Given the description of an element on the screen output the (x, y) to click on. 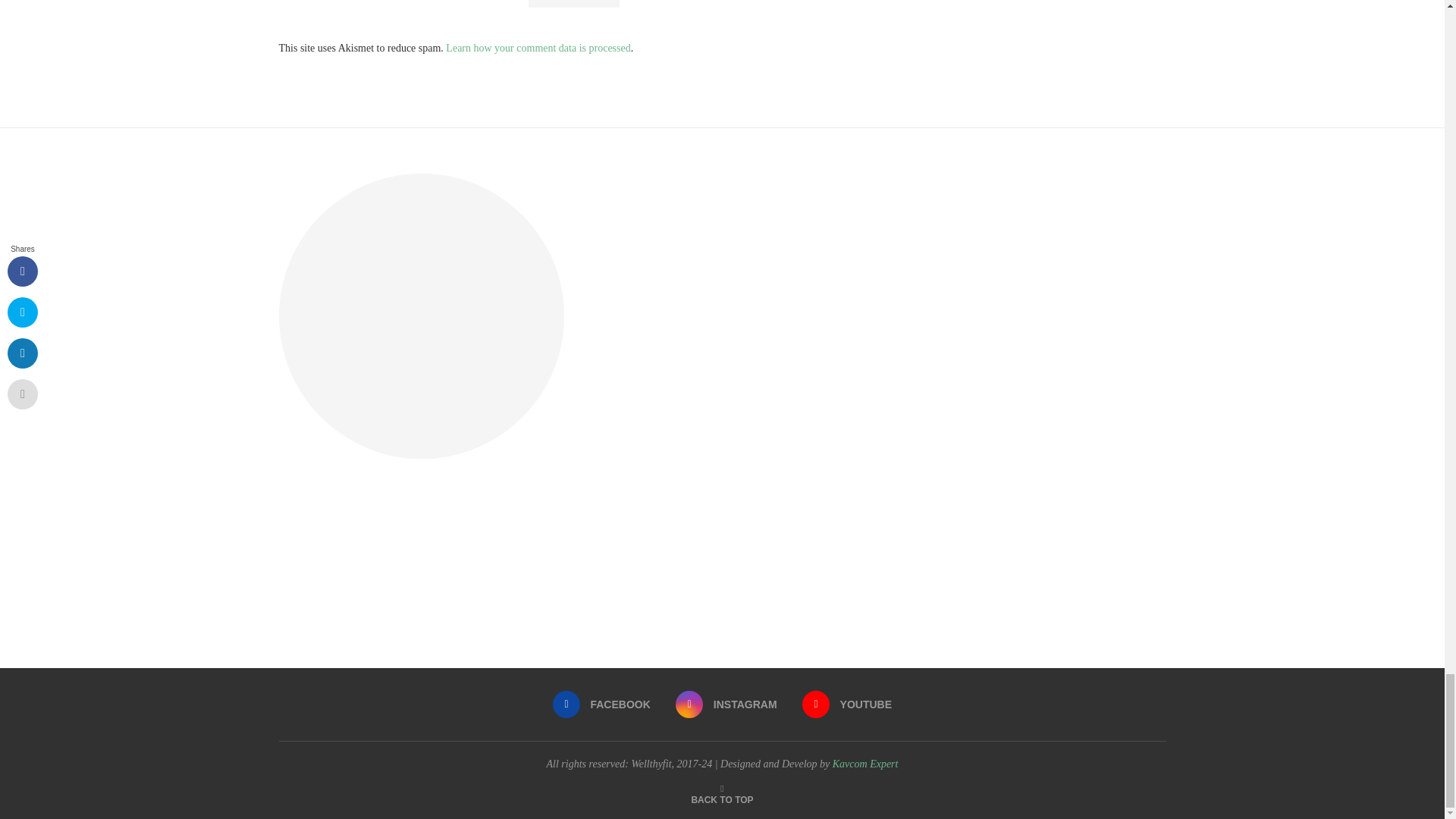
Submit (574, 3)
